Given the description of an element on the screen output the (x, y) to click on. 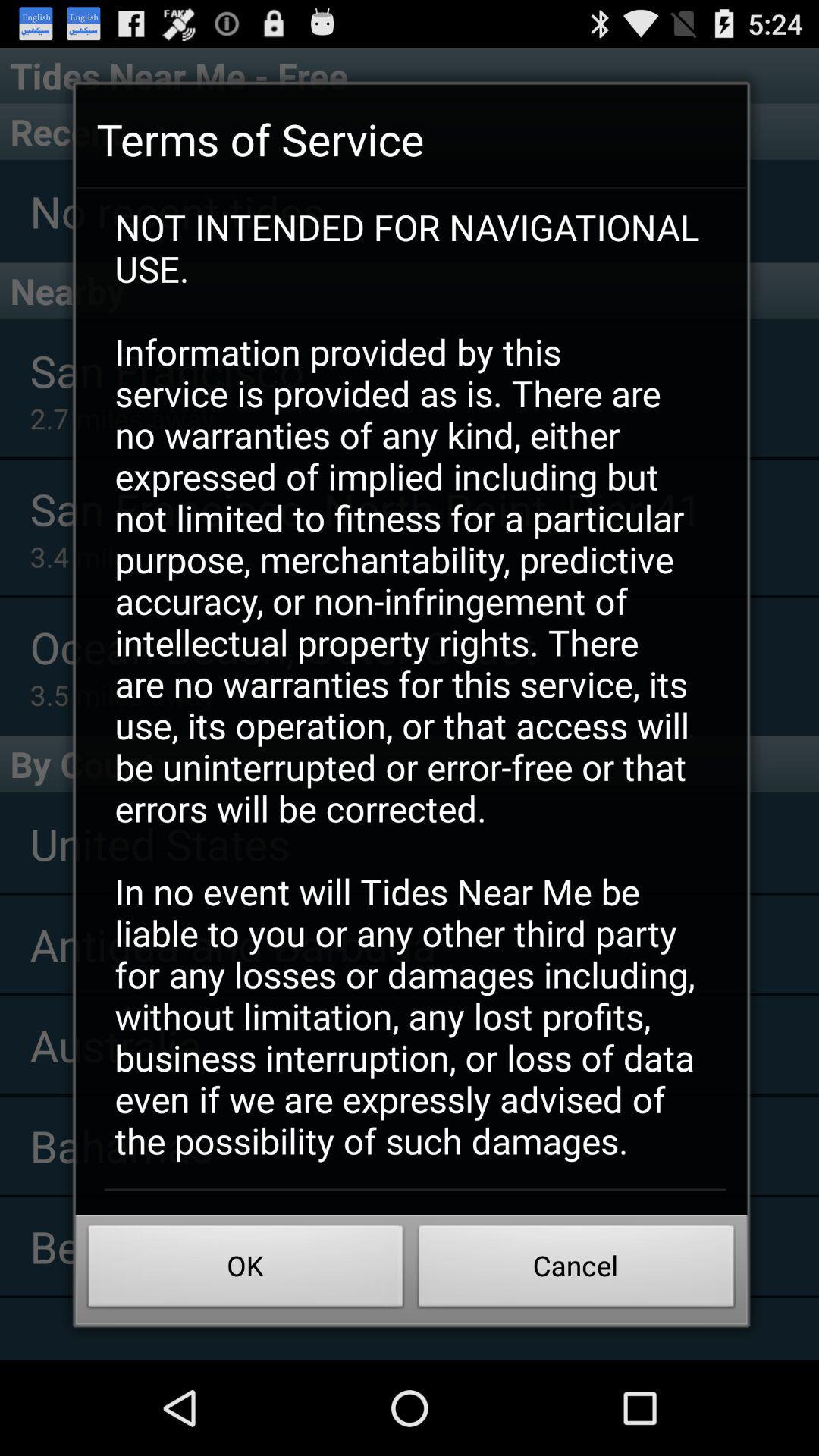
choose the cancel (576, 1270)
